Given the description of an element on the screen output the (x, y) to click on. 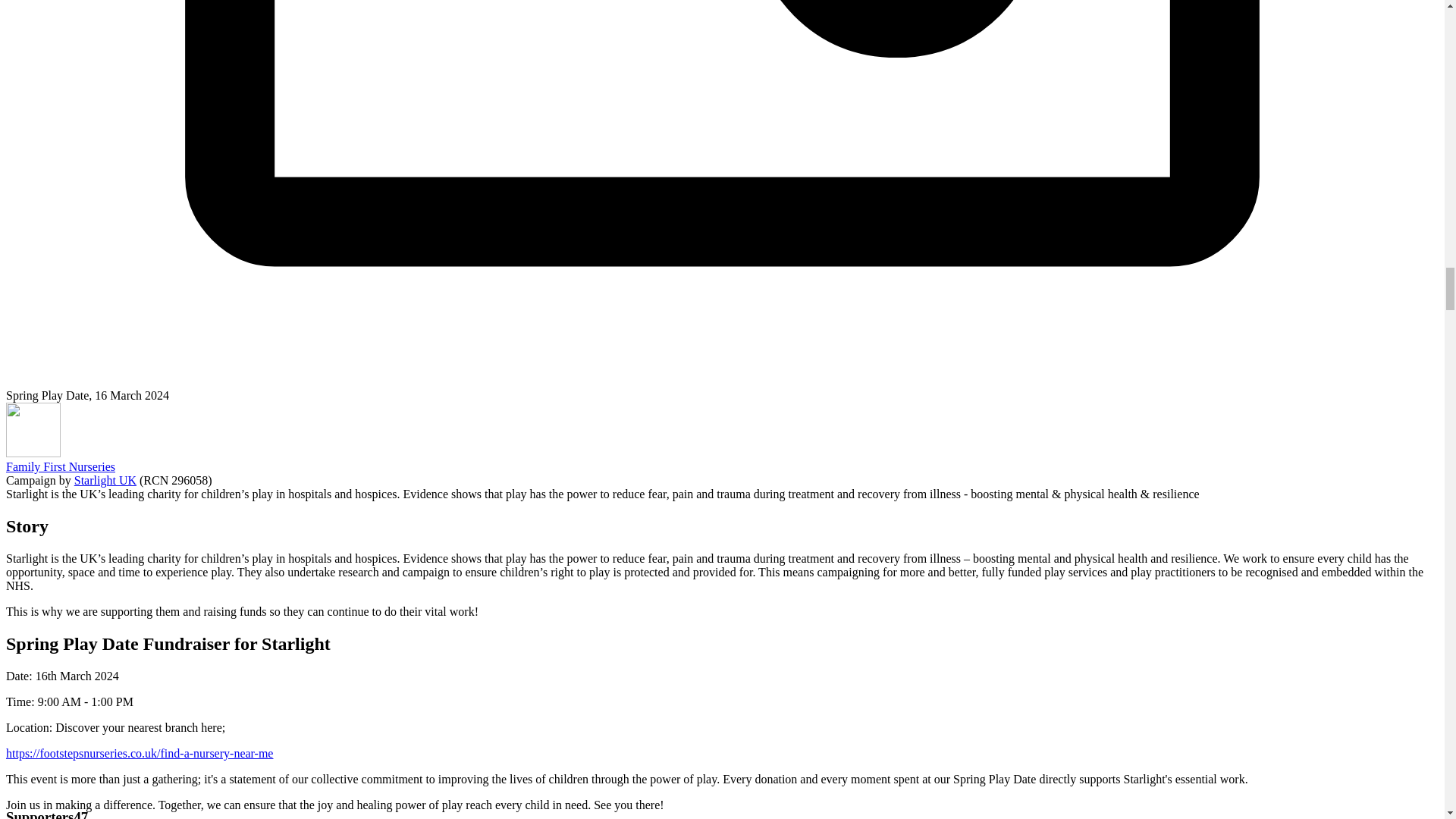
Family First Nurseries (60, 466)
Starlight UK (105, 480)
